Given the description of an element on the screen output the (x, y) to click on. 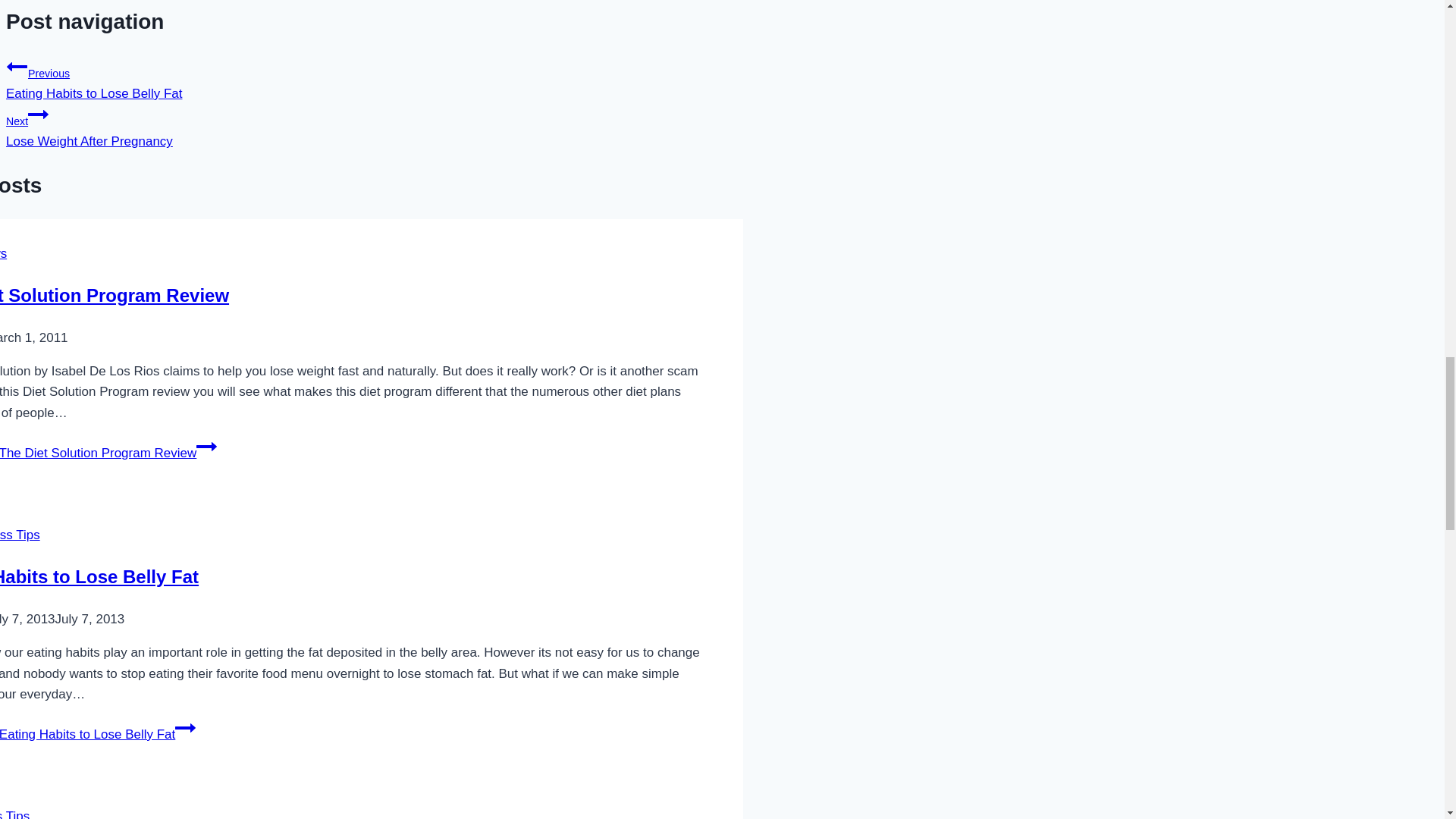
Continue (325, 78)
The Diet Solution Program Review (37, 114)
Continue (114, 295)
Continue (206, 446)
Read More The Diet Solution Program ReviewContinue (184, 727)
Weight Loss Tips (108, 452)
Read More Eating Habits to Lose Belly FatContinue (325, 126)
Previous (14, 814)
